Given the description of an element on the screen output the (x, y) to click on. 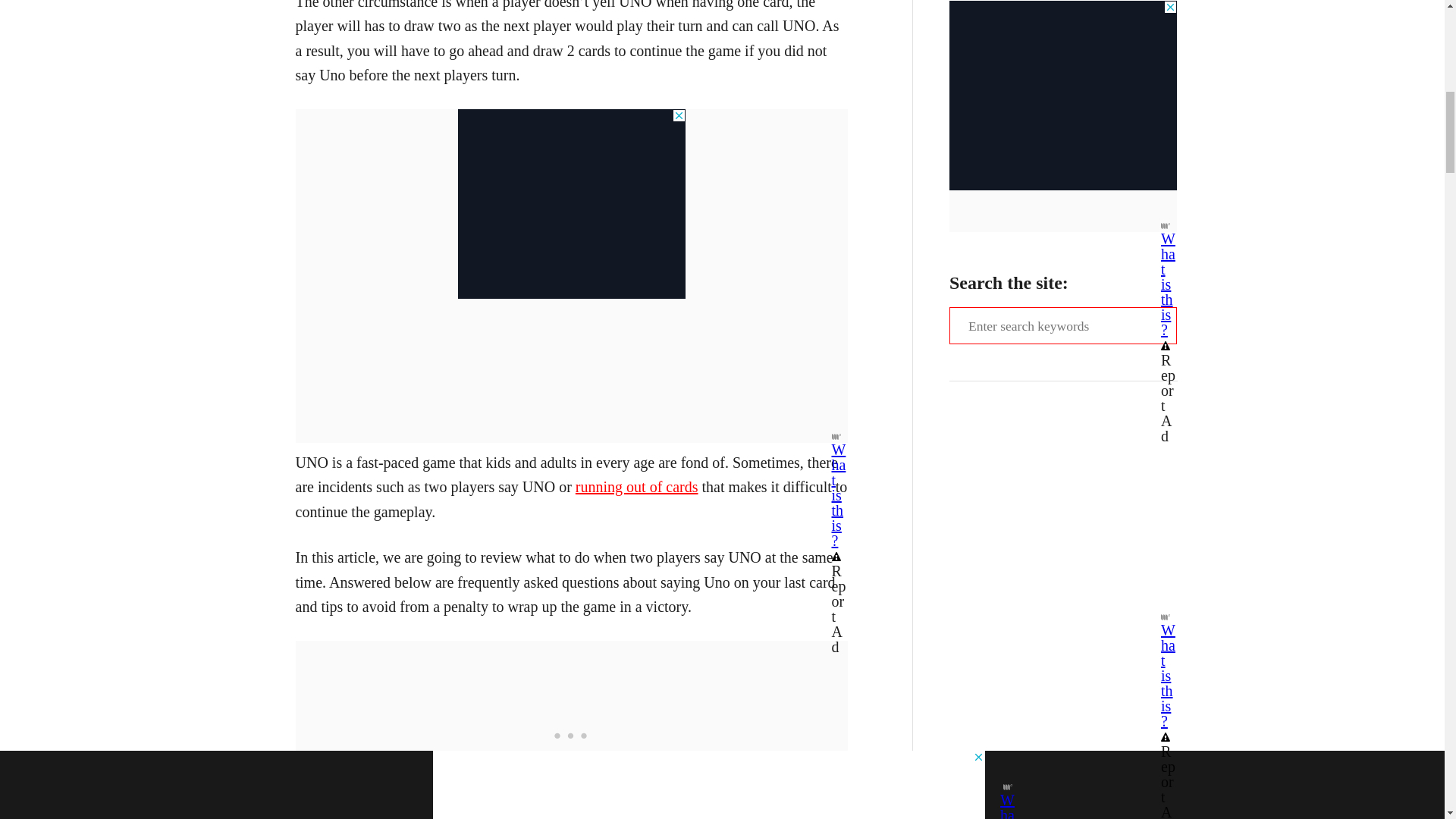
running out of cards (636, 486)
3rd party ad content (571, 203)
3rd party ad content (571, 729)
